Given the description of an element on the screen output the (x, y) to click on. 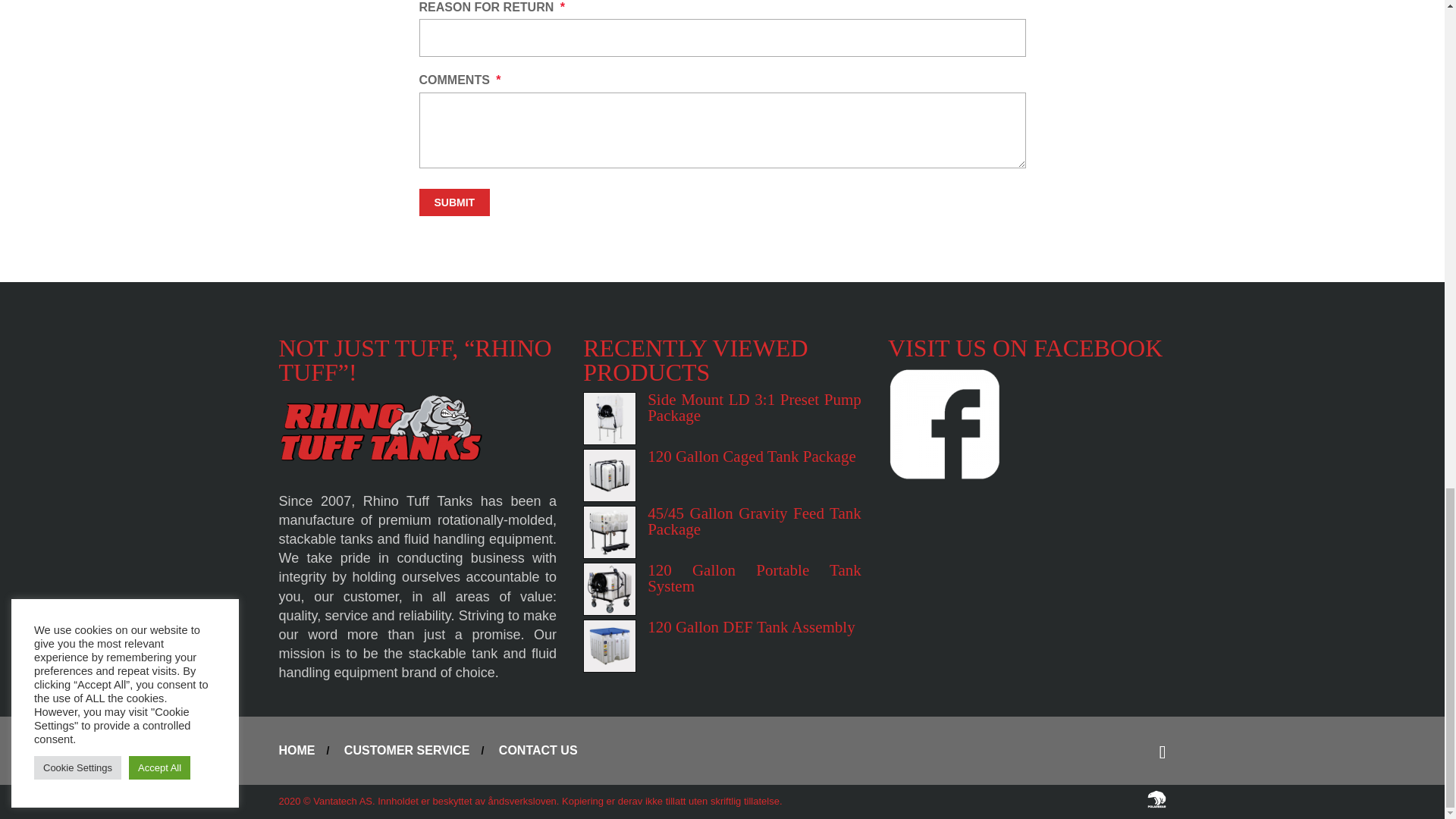
Submit (454, 202)
